Given the description of an element on the screen output the (x, y) to click on. 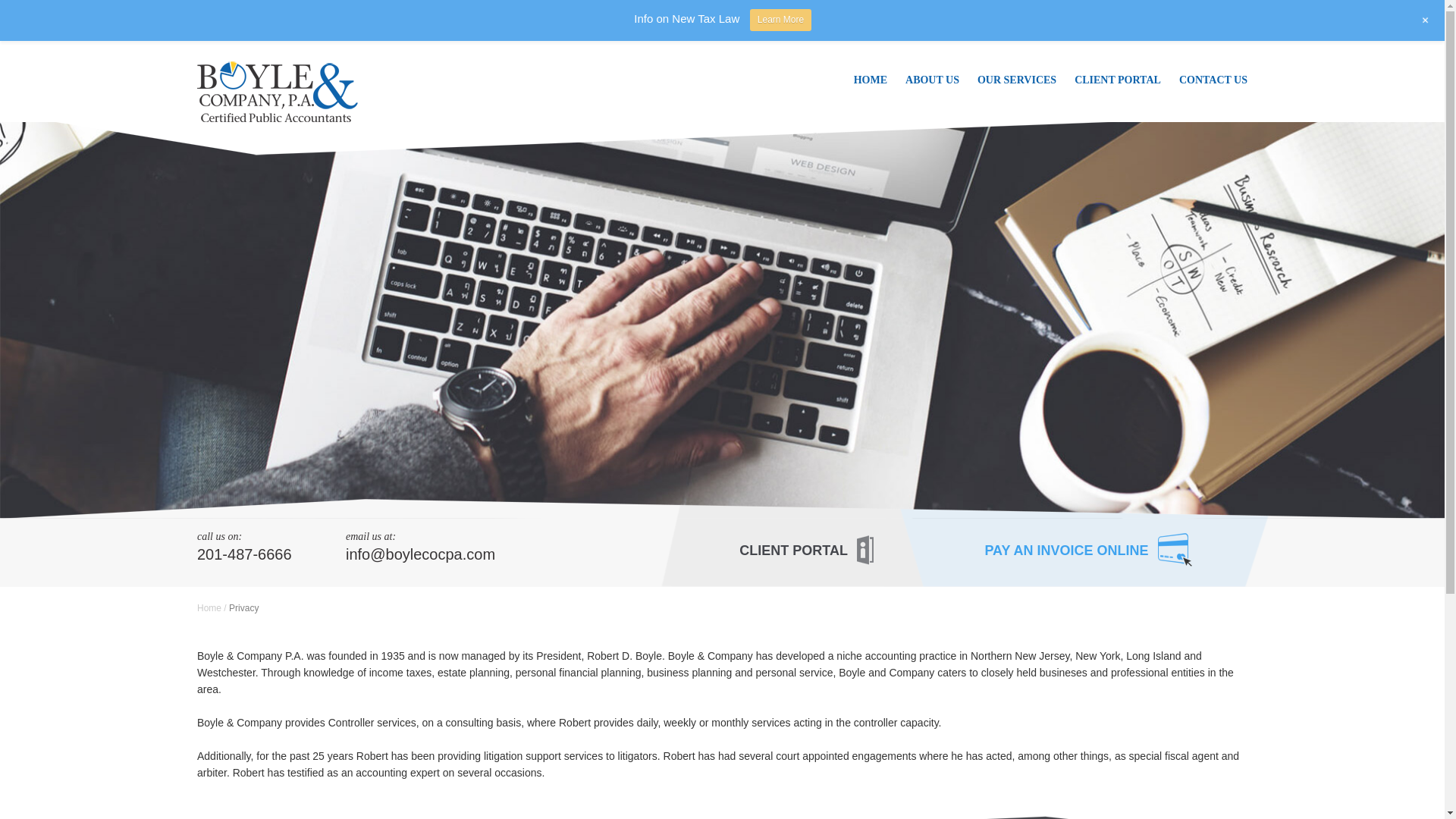
201-487-6666 (271, 554)
CONTACT US (1208, 79)
OUR SERVICES (1016, 79)
ABOUT US (932, 79)
PAY AN INVOICE ONLINE (1087, 551)
Learn More (779, 20)
HOME (870, 79)
Home (208, 607)
CLIENT PORTAL (1117, 79)
CLIENT PORTAL (806, 550)
